Given the description of an element on the screen output the (x, y) to click on. 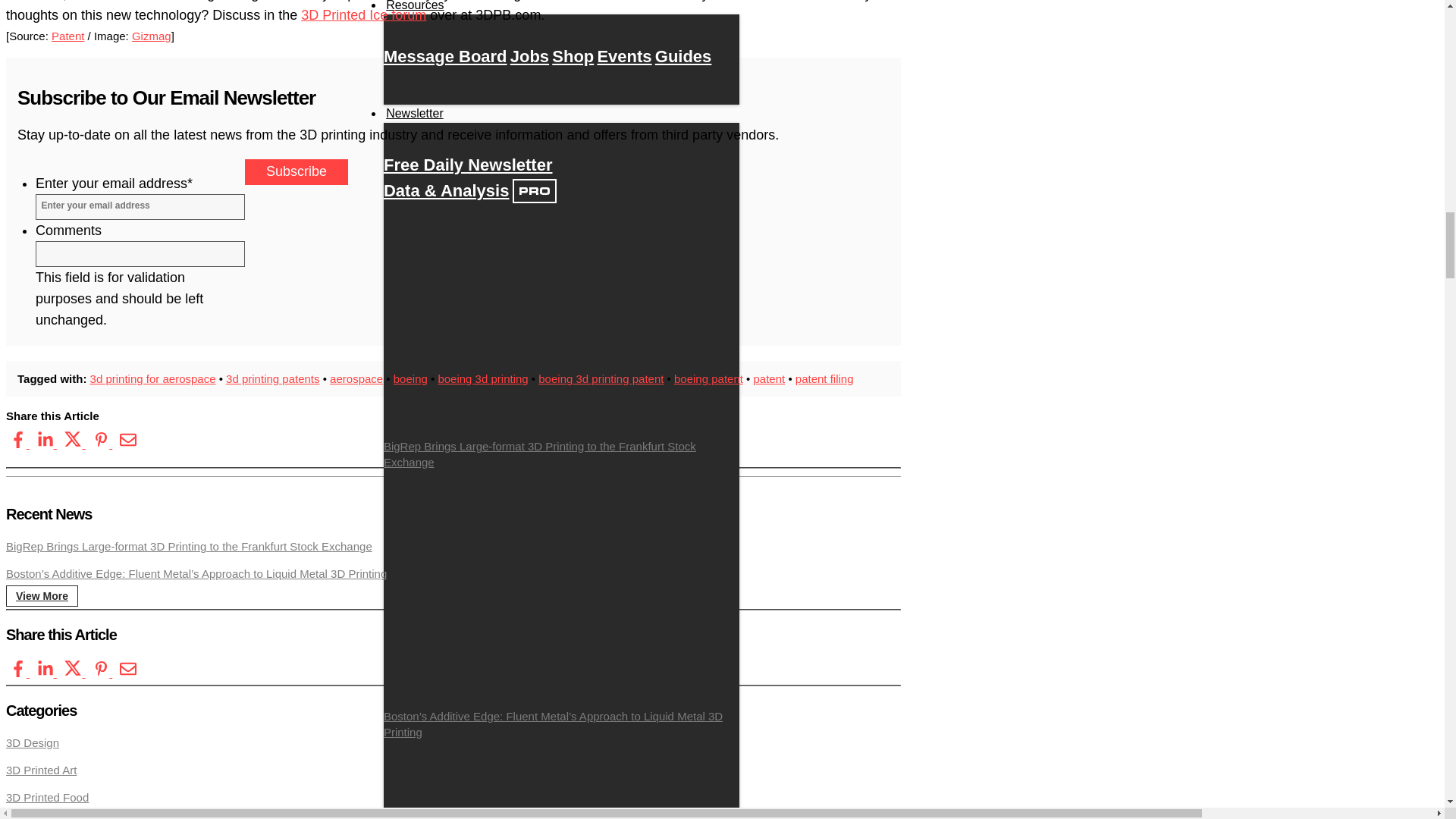
Subscribe (295, 171)
